Given the description of an element on the screen output the (x, y) to click on. 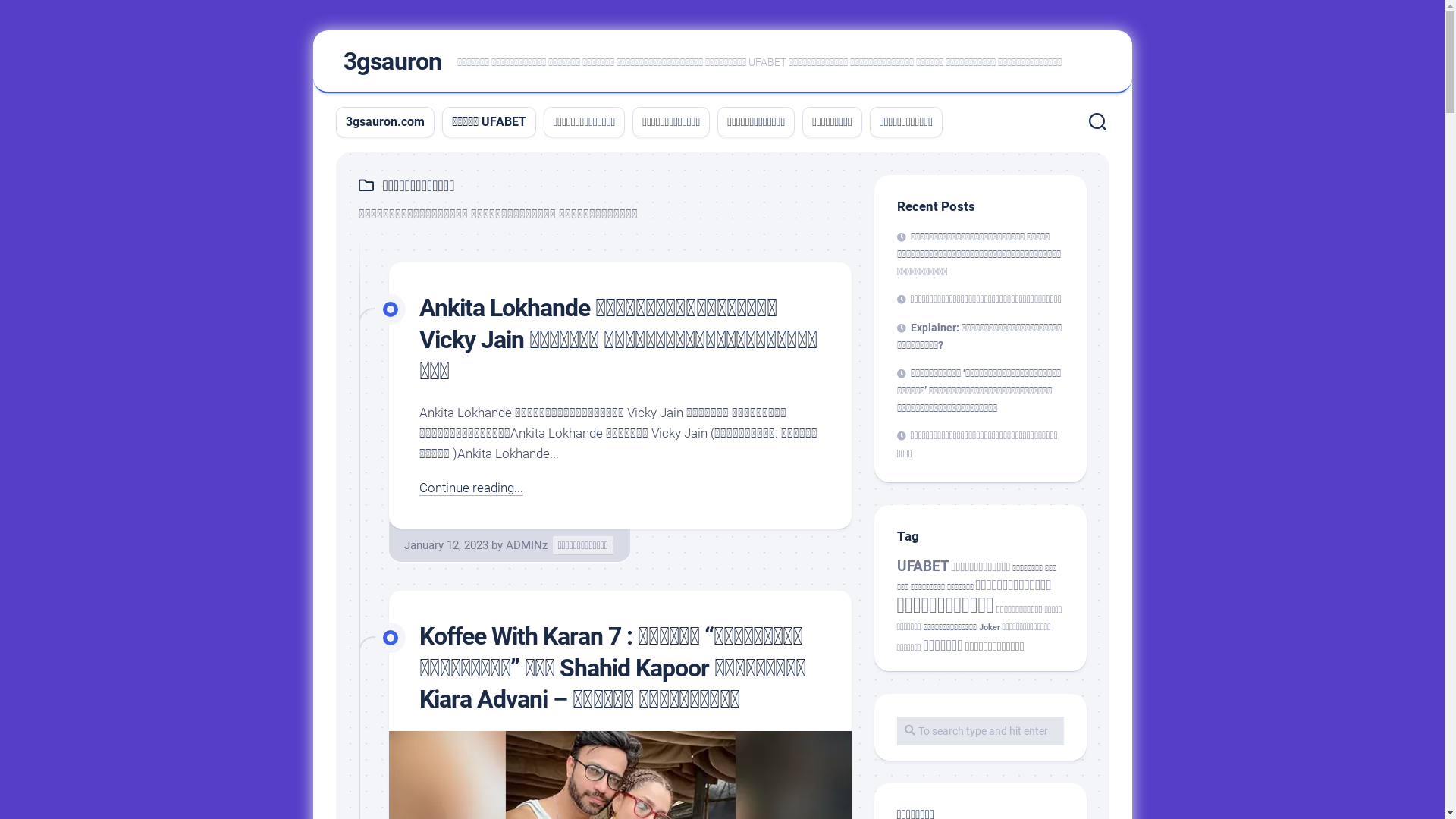
Continue reading... Element type: text (470, 487)
3gsauron.com Element type: text (384, 121)
UFABET Element type: text (922, 566)
ADMINz Element type: text (525, 545)
3gsauron Element type: text (391, 61)
